Given the description of an element on the screen output the (x, y) to click on. 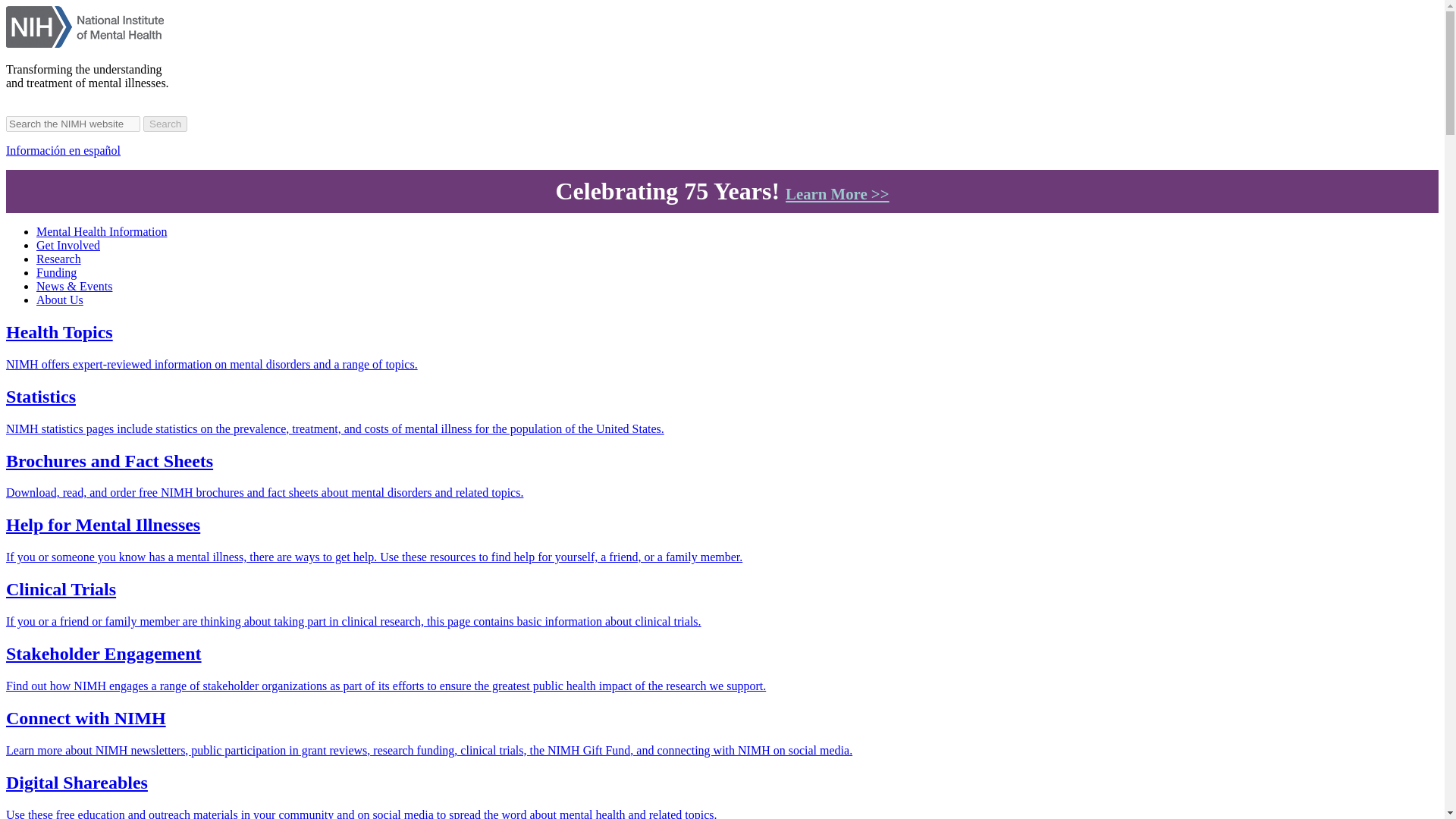
Funding (56, 272)
Search (164, 123)
NIMH Home (90, 42)
Get Involved (68, 245)
About Us (59, 299)
Search (164, 123)
Research (58, 258)
Mental Health Information (101, 231)
